Given the description of an element on the screen output the (x, y) to click on. 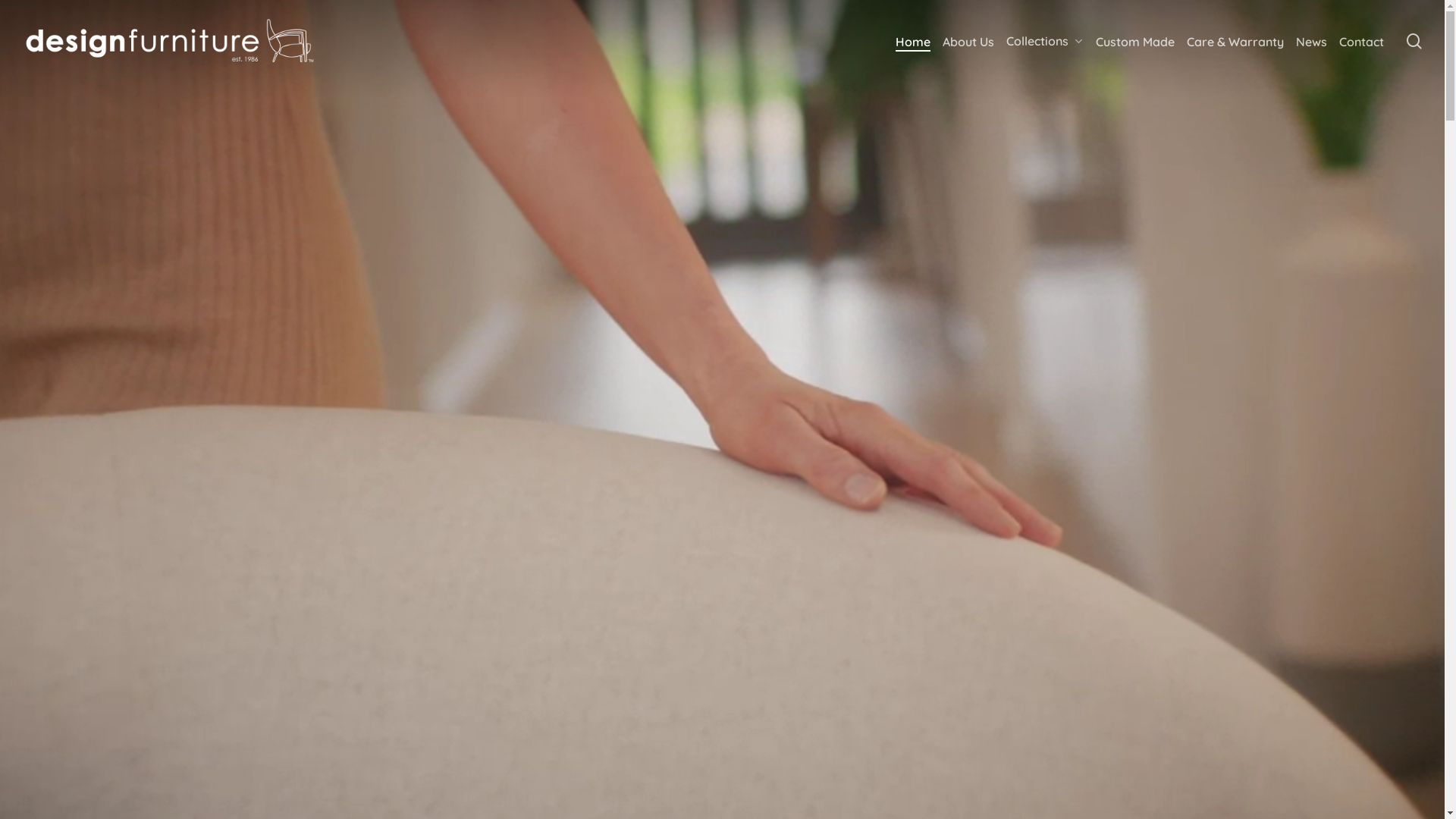
About Us Element type: text (968, 41)
Care & Warranty Element type: text (1234, 41)
Collections Element type: text (1044, 41)
search Element type: text (1414, 41)
News Element type: text (1311, 41)
Home Element type: text (912, 41)
Contact Element type: text (1361, 41)
Custom Made Element type: text (1134, 41)
